Given the description of an element on the screen output the (x, y) to click on. 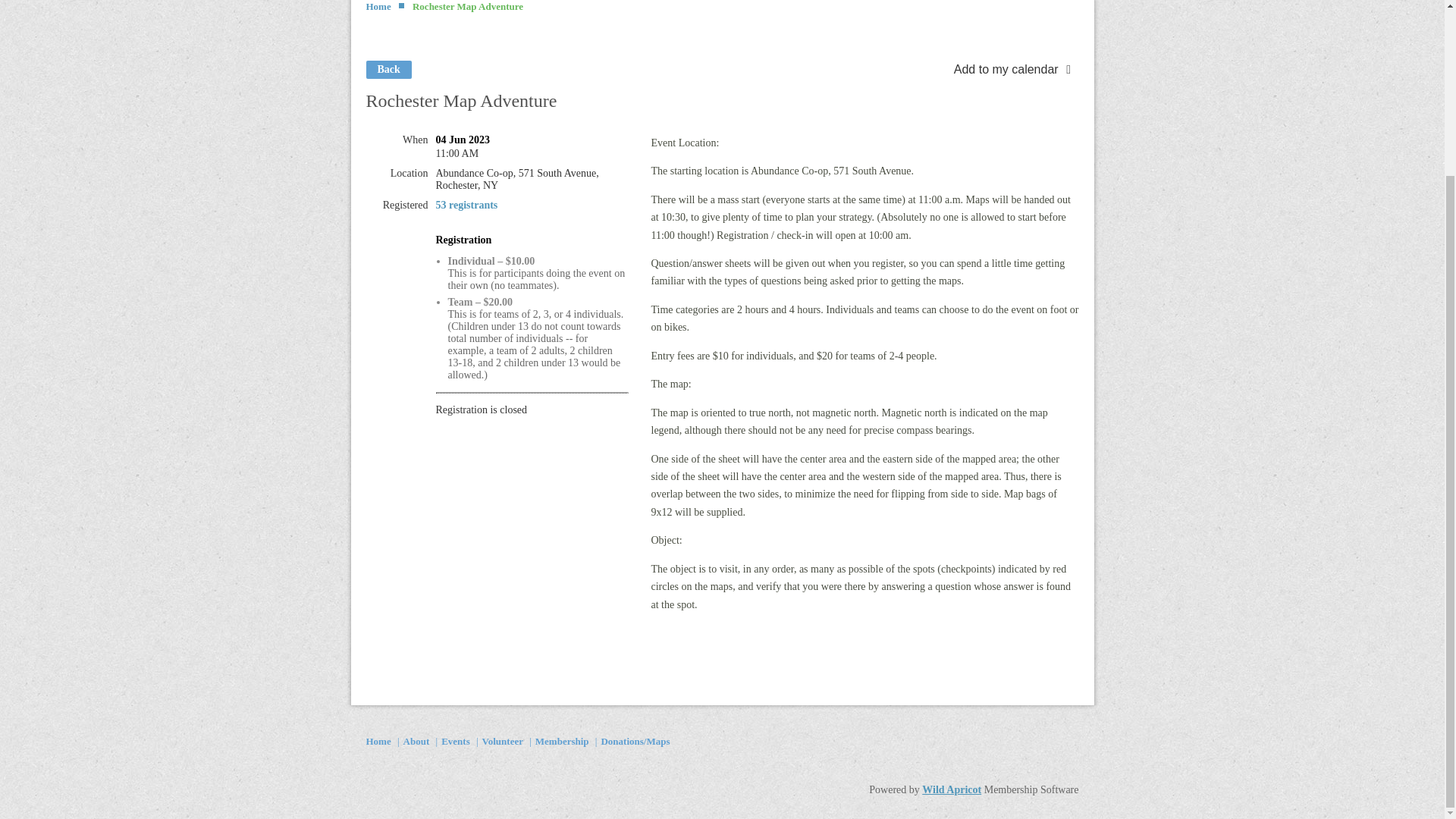
Wild Apricot (951, 789)
Back (387, 69)
Home (377, 740)
About (416, 740)
Home (377, 6)
53 registrants (466, 204)
Volunteer (501, 740)
Membership (562, 740)
Events (455, 740)
